Given the description of an element on the screen output the (x, y) to click on. 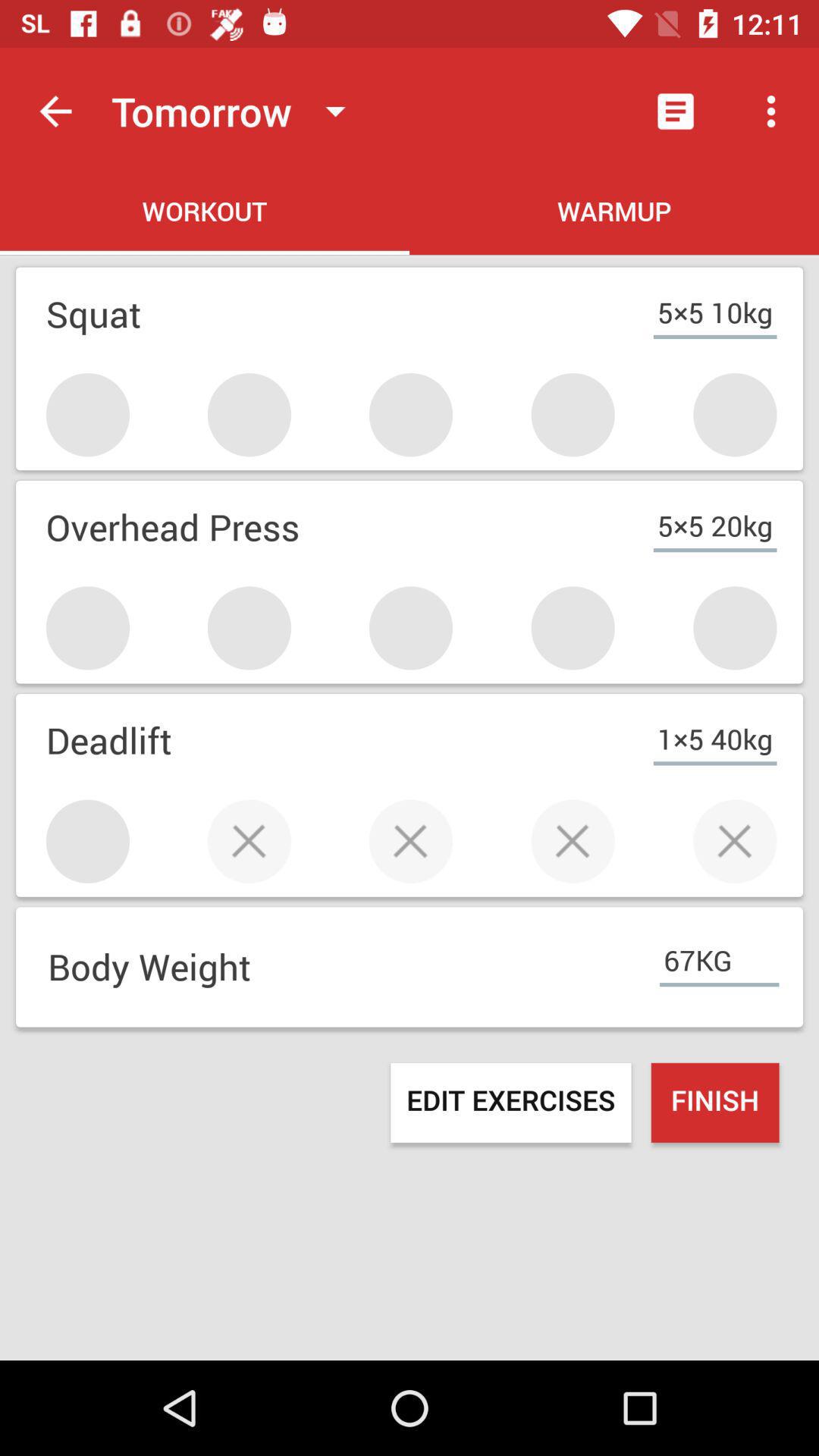
press item next to the tomorrow icon (55, 111)
